Given the description of an element on the screen output the (x, y) to click on. 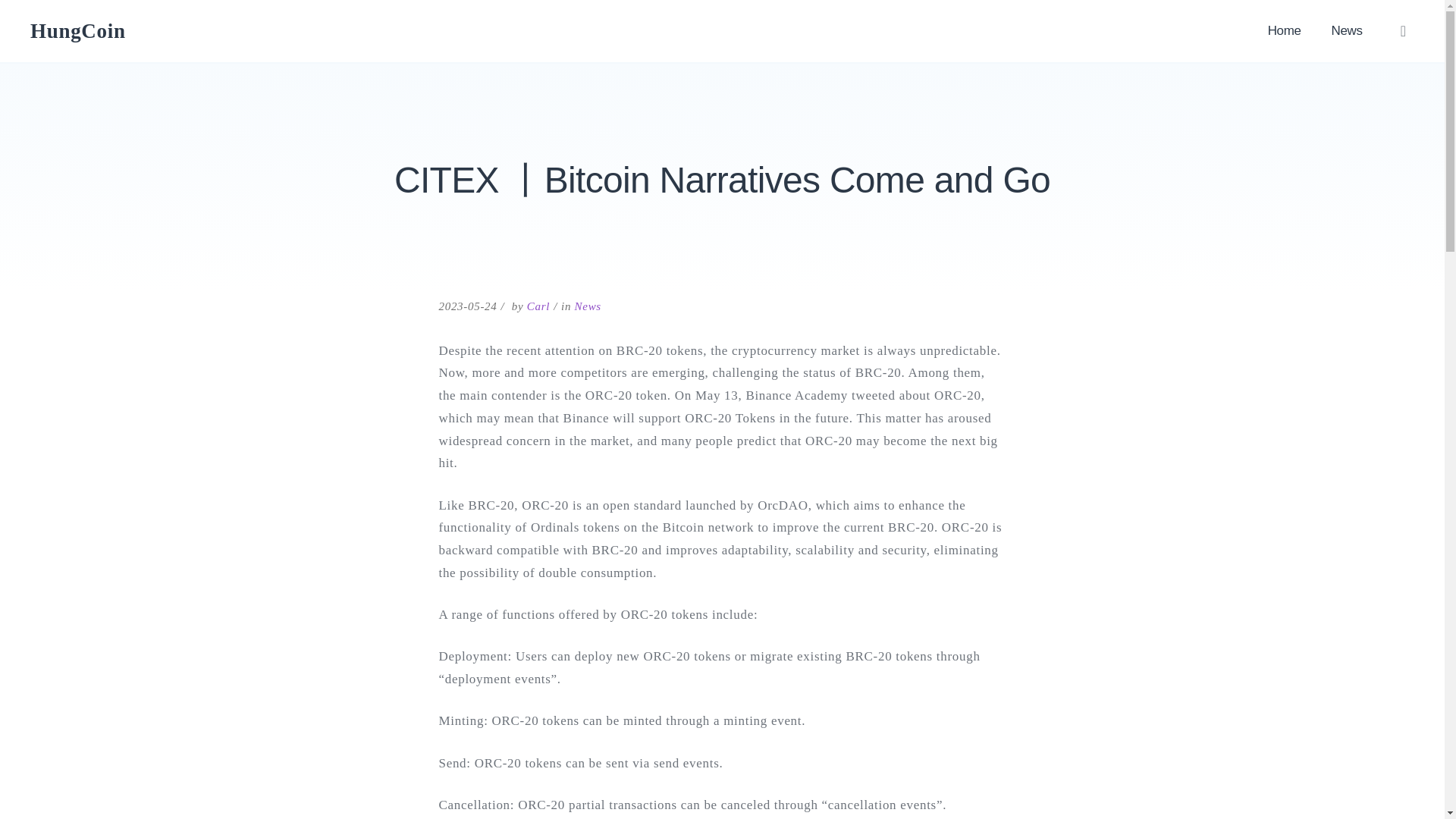
OPEN SEARCH (1403, 30)
Carl (538, 306)
News (588, 306)
News (1346, 30)
Home (1284, 30)
HungCoin (77, 30)
